Given the description of an element on the screen output the (x, y) to click on. 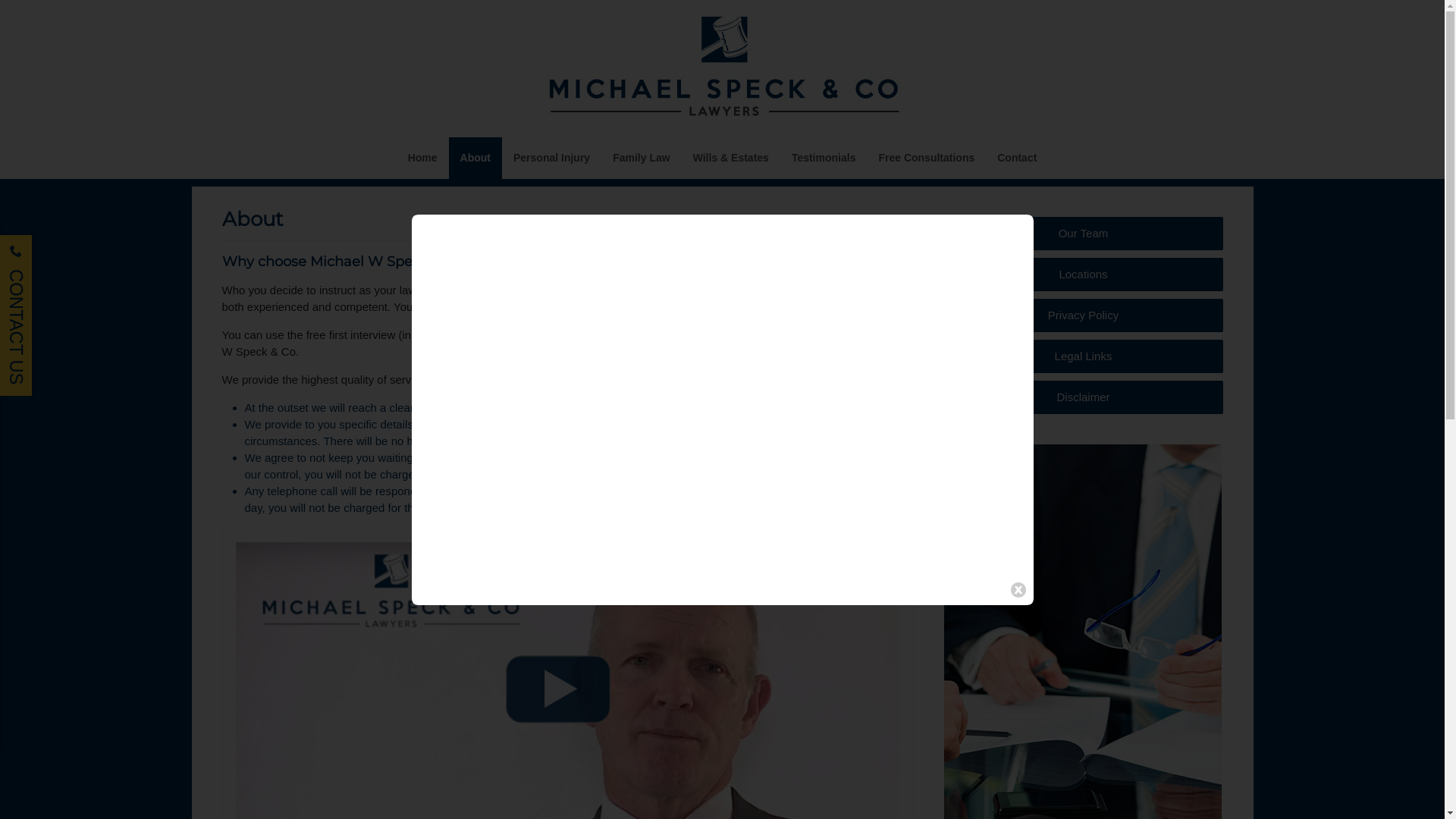
Close Element type: hover (1017, 589)
Family Law Element type: text (640, 157)
Contact Element type: text (1016, 157)
Free Consultations Element type: text (925, 157)
Home Element type: text (422, 157)
Disclaimer Element type: text (1082, 397)
About Element type: text (475, 157)
Wills & Estates Element type: text (730, 157)
Privacy Policy Element type: text (1082, 315)
Legal Links Element type: text (1082, 356)
Locations Element type: text (1082, 274)
Personal Injury Element type: text (551, 157)
Our Team Element type: text (1082, 233)
Testimonials Element type: text (823, 157)
